Given the description of an element on the screen output the (x, y) to click on. 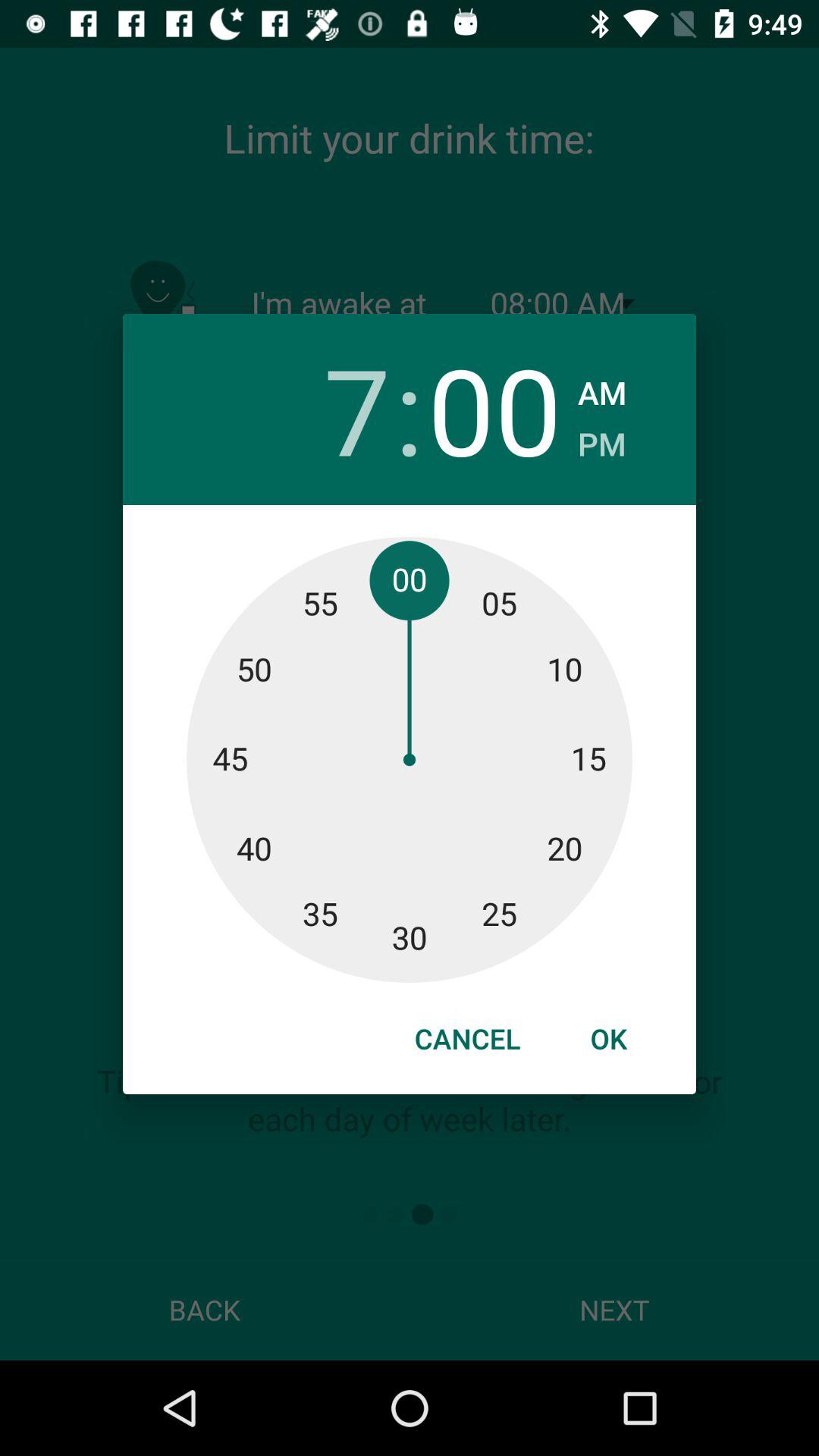
turn off the icon to the right of the 00 (601, 439)
